Given the description of an element on the screen output the (x, y) to click on. 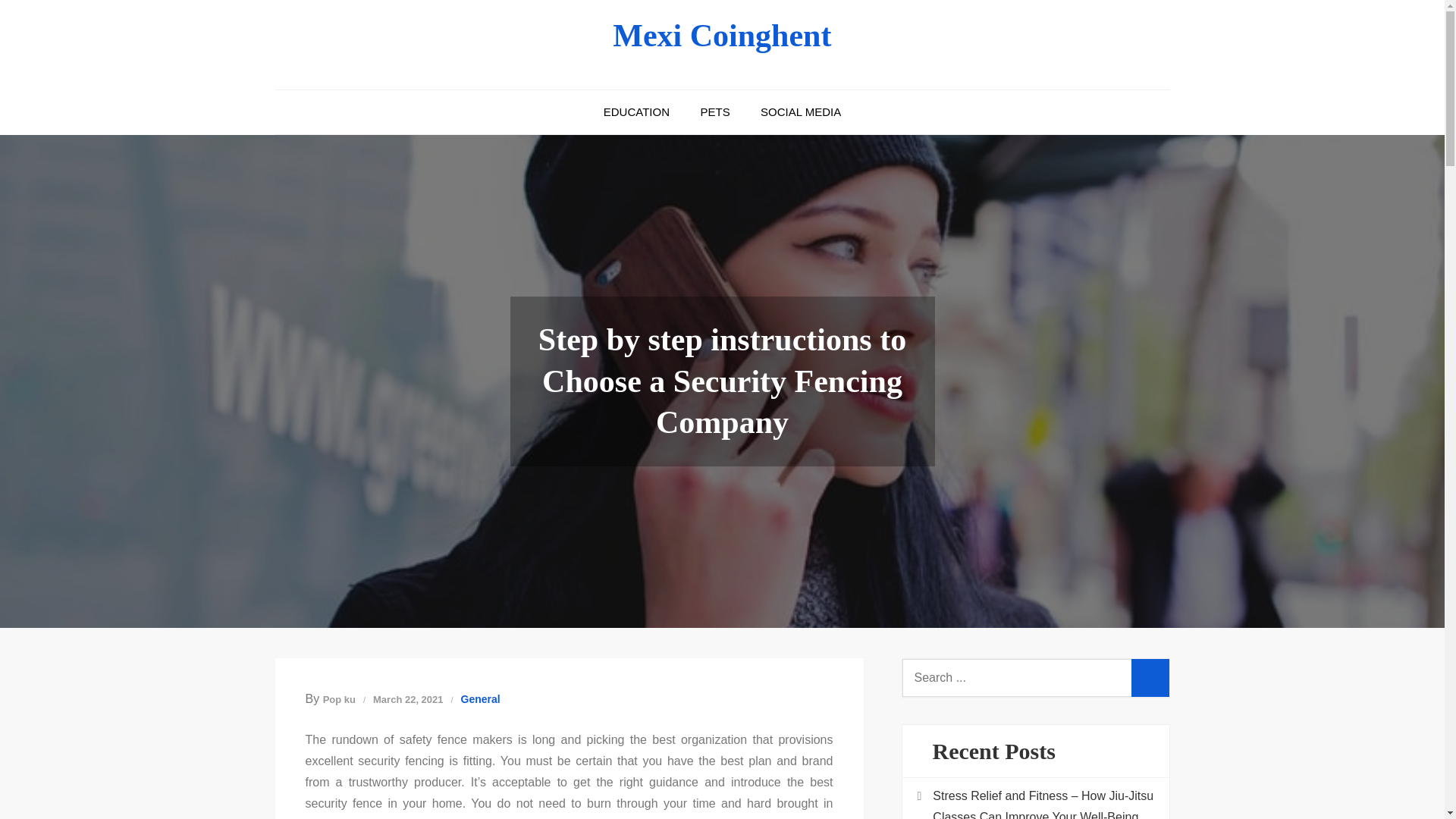
Mexi Coinghent (721, 35)
March 22, 2021 (408, 699)
Pop ku (339, 699)
General (480, 699)
SOCIAL MEDIA (800, 112)
EDUCATION (635, 112)
Search for: (1035, 677)
PETS (713, 112)
Search (1150, 677)
